Given the description of an element on the screen output the (x, y) to click on. 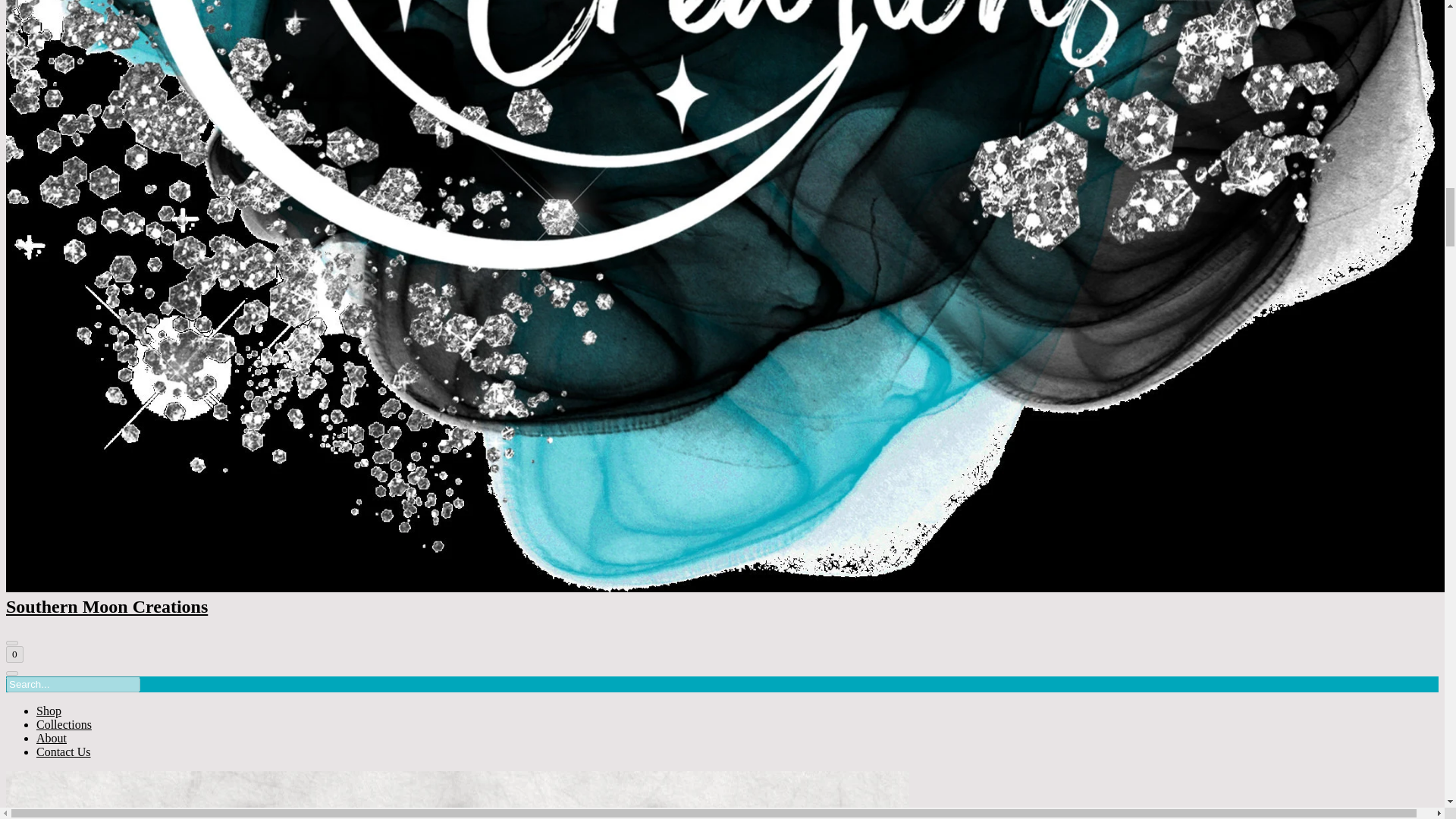
Shop (48, 710)
0 (14, 654)
Contact Us (63, 751)
Collections (63, 724)
About (51, 738)
